Given the description of an element on the screen output the (x, y) to click on. 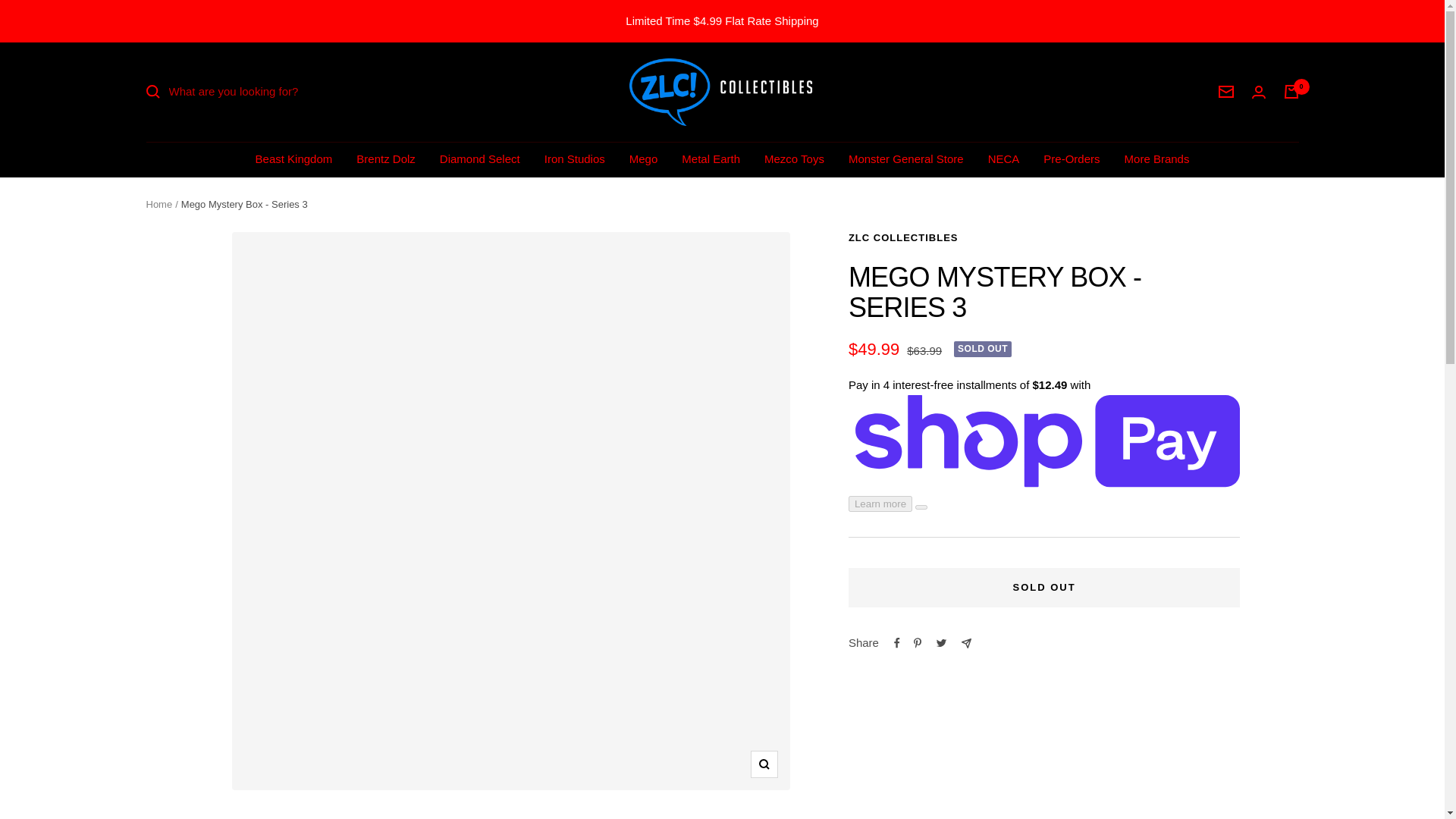
Shopify online store chat (1404, 781)
Home (158, 204)
Mego (643, 158)
Zoom (764, 764)
Iron Studios (574, 158)
More Brands (1156, 158)
Zlc Collectibles (721, 92)
Diamond Select (479, 158)
Monster General Store (905, 158)
SOLD OUT (1044, 587)
